Given the description of an element on the screen output the (x, y) to click on. 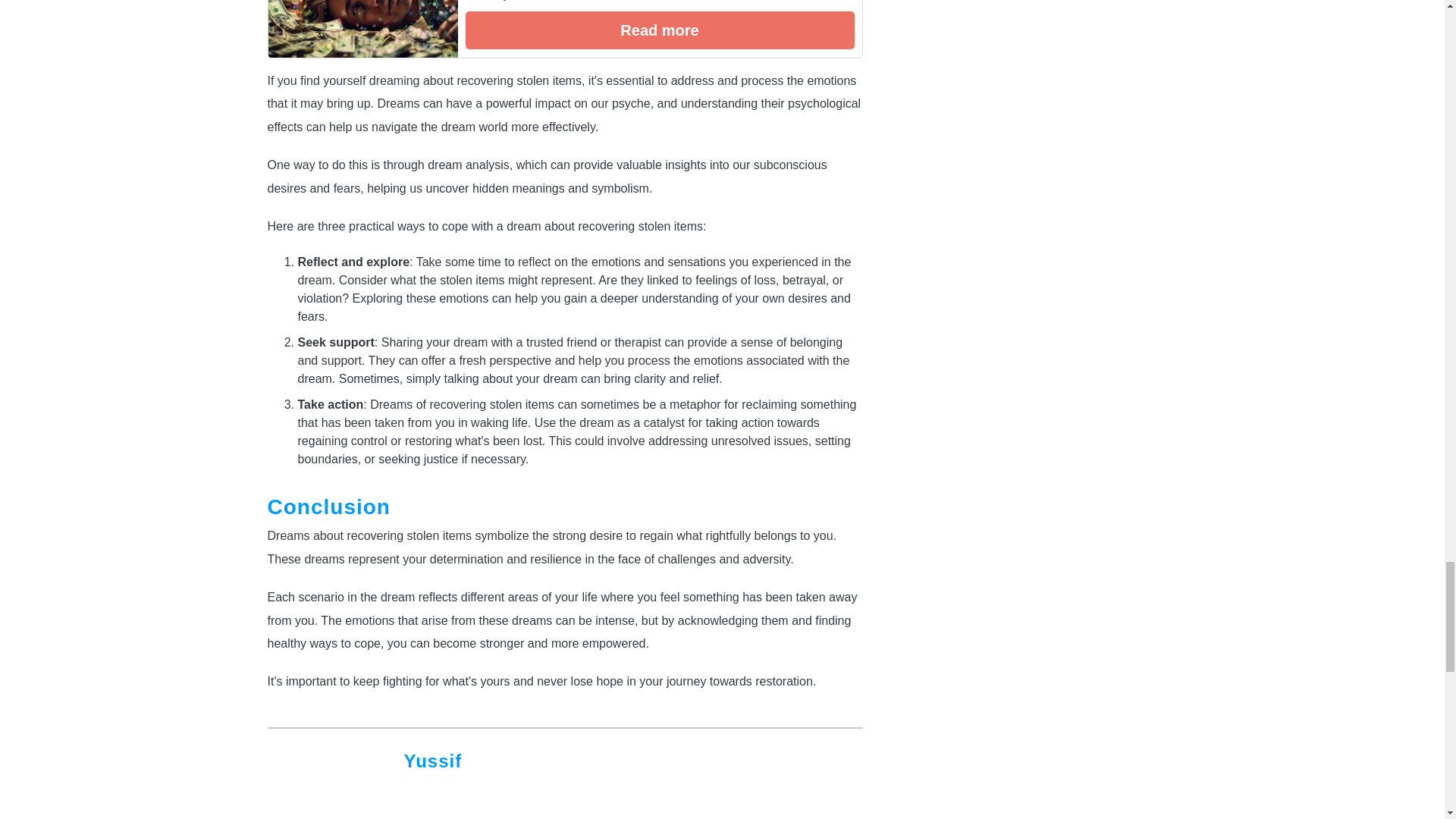
Yussif (432, 761)
